Given the description of an element on the screen output the (x, y) to click on. 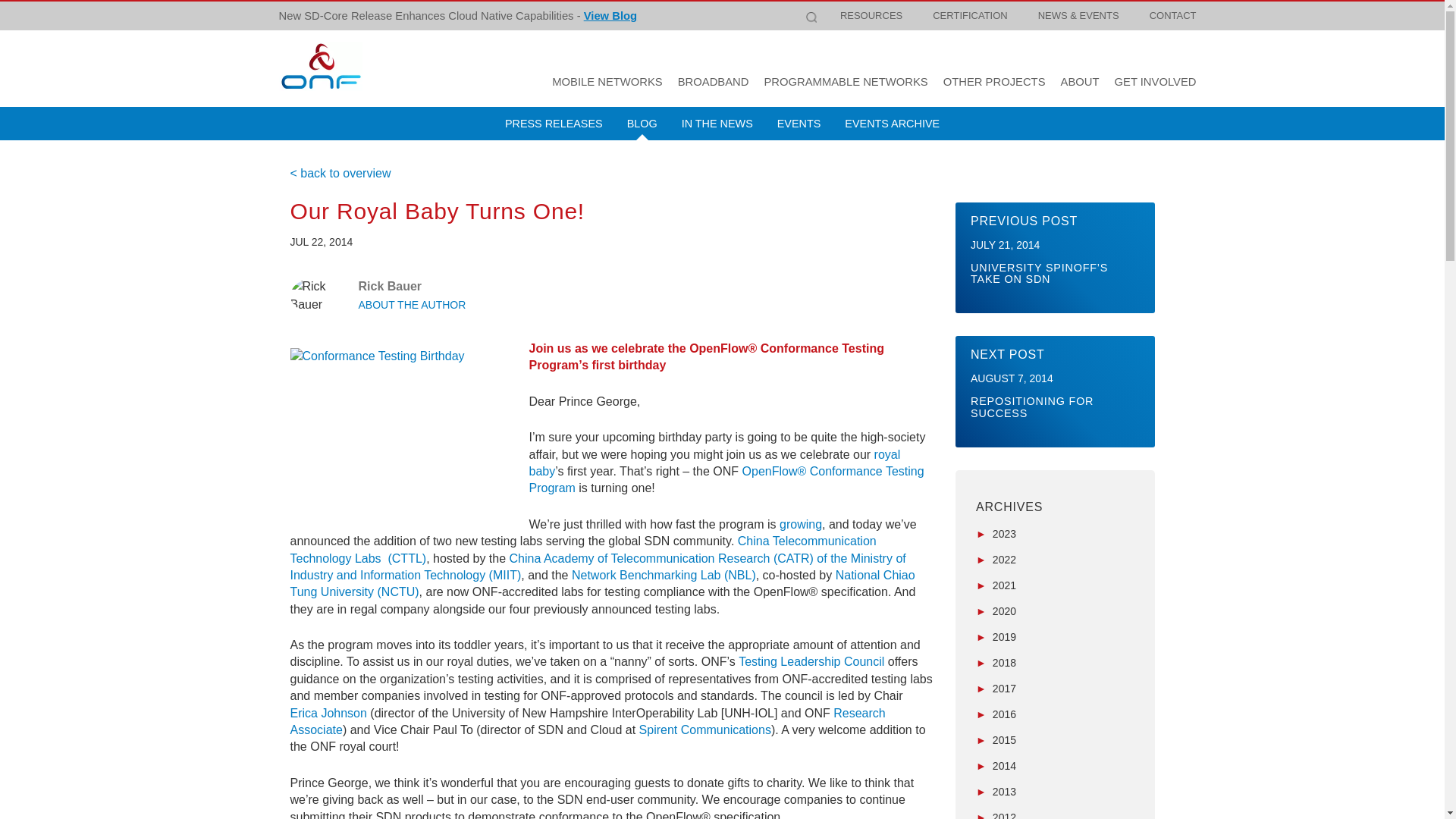
CERTIFICATION (969, 15)
RESOURCES (871, 15)
2021 (995, 585)
search (1185, 29)
2023 (995, 533)
CONTACT (1172, 15)
2022 (995, 559)
MOBILE NETWORKS (606, 81)
Repositioning for Success (1054, 390)
View Blog (610, 15)
